Given the description of an element on the screen output the (x, y) to click on. 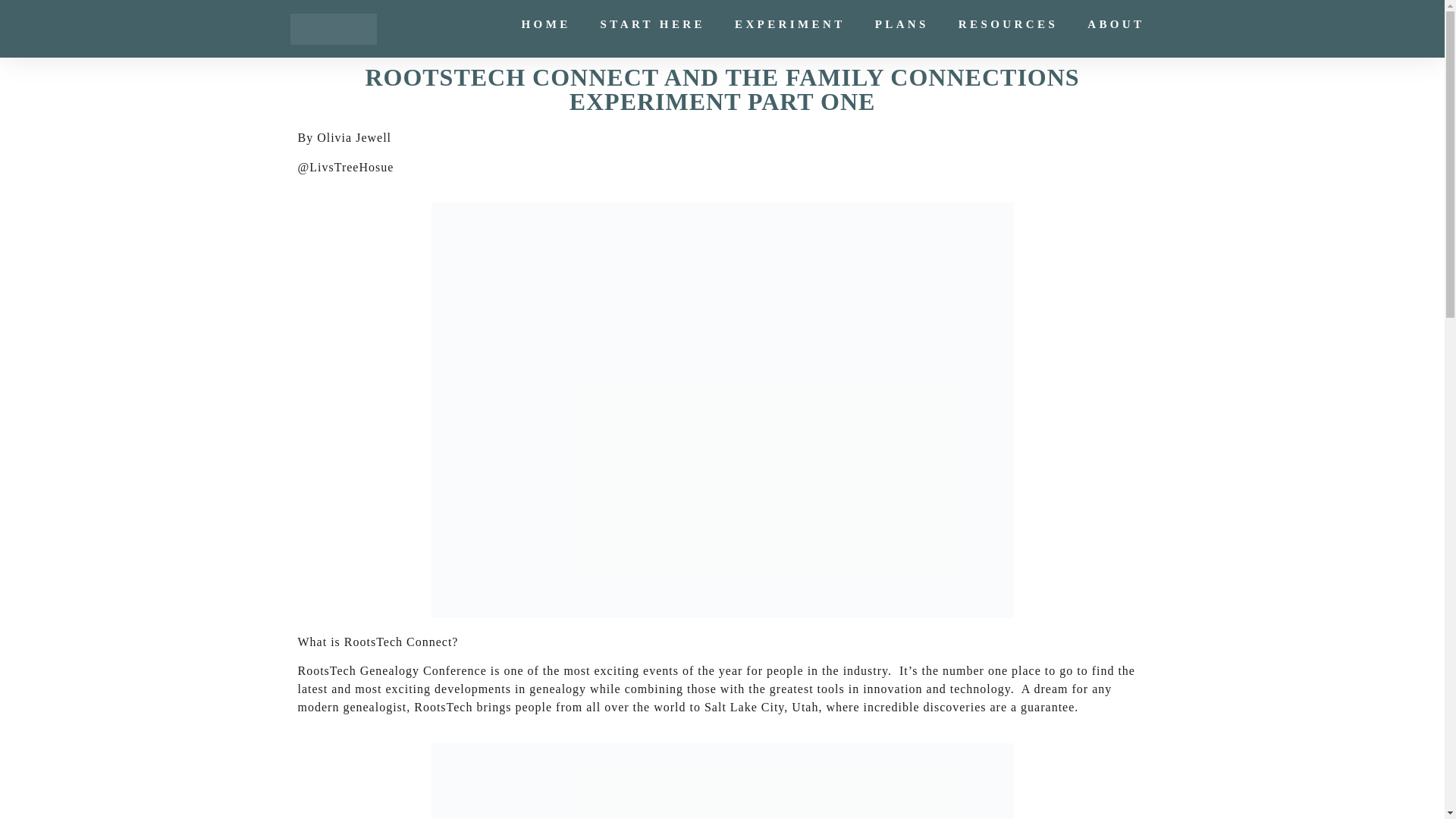
PLANS (901, 24)
ABOUT (1115, 24)
START HERE (652, 24)
HOME (545, 24)
EXPERIMENT (789, 24)
RESOURCES (1008, 24)
